Given the description of an element on the screen output the (x, y) to click on. 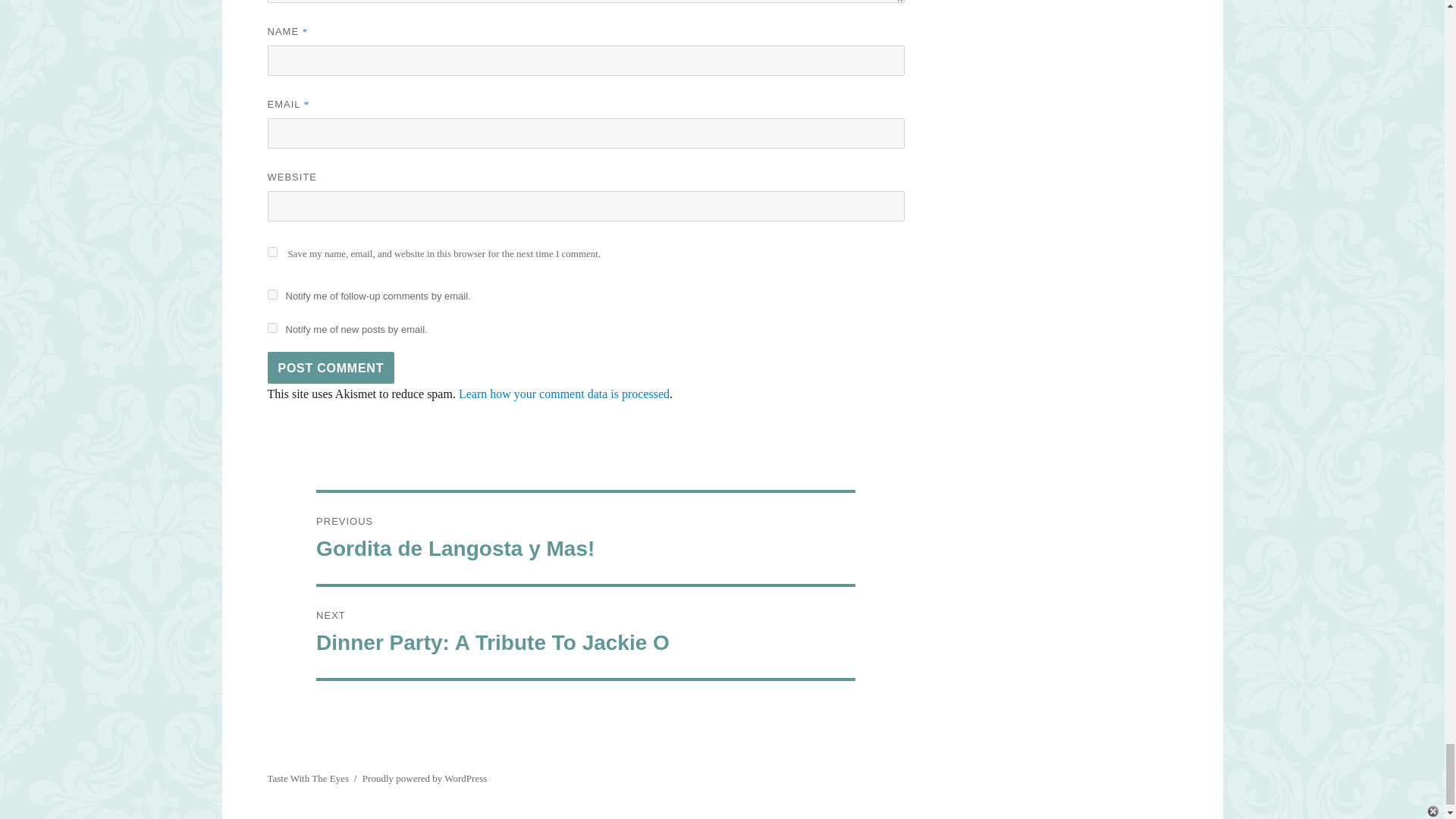
subscribe (271, 294)
yes (271, 252)
Post Comment (330, 368)
subscribe (271, 327)
